Given the description of an element on the screen output the (x, y) to click on. 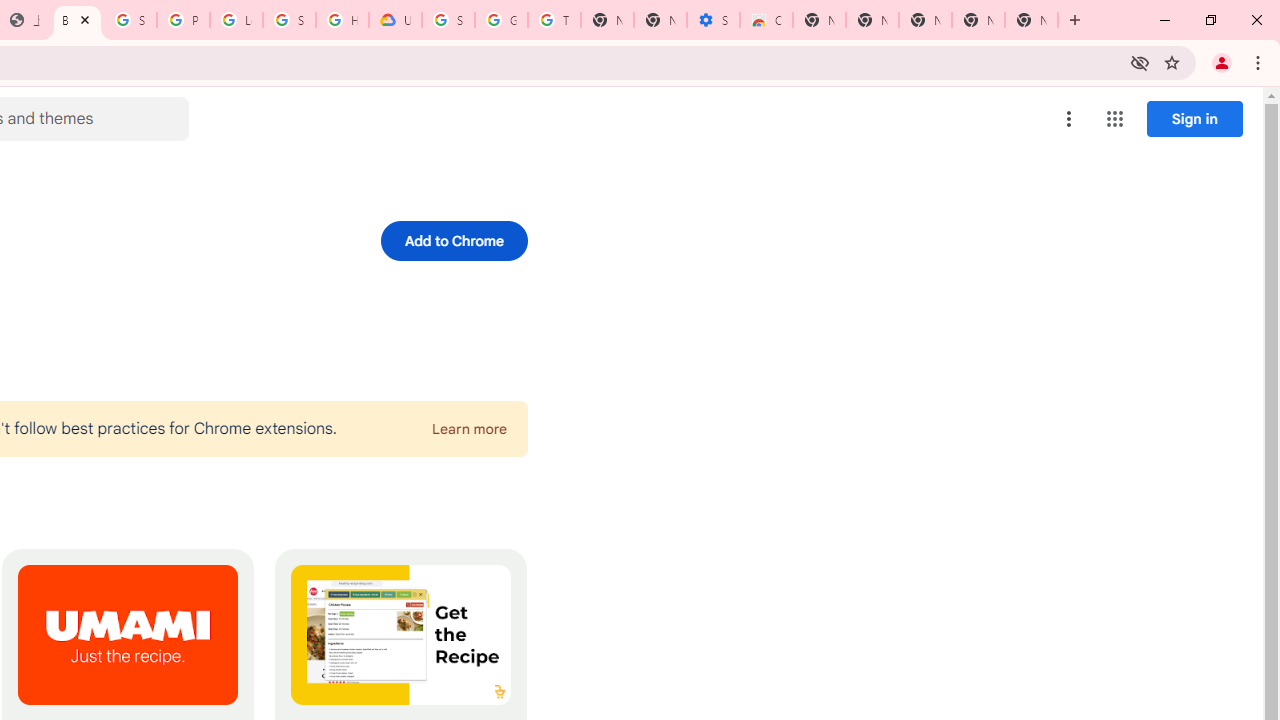
More options menu (1069, 118)
New Tab (819, 20)
Add to Chrome (453, 240)
Sign in - Google Accounts (448, 20)
Settings - Accessibility (713, 20)
Sign in - Google Accounts (289, 20)
New Tab (1031, 20)
Chrome Web Store - Accessibility extensions (766, 20)
Google Account Help (501, 20)
